Given the description of an element on the screen output the (x, y) to click on. 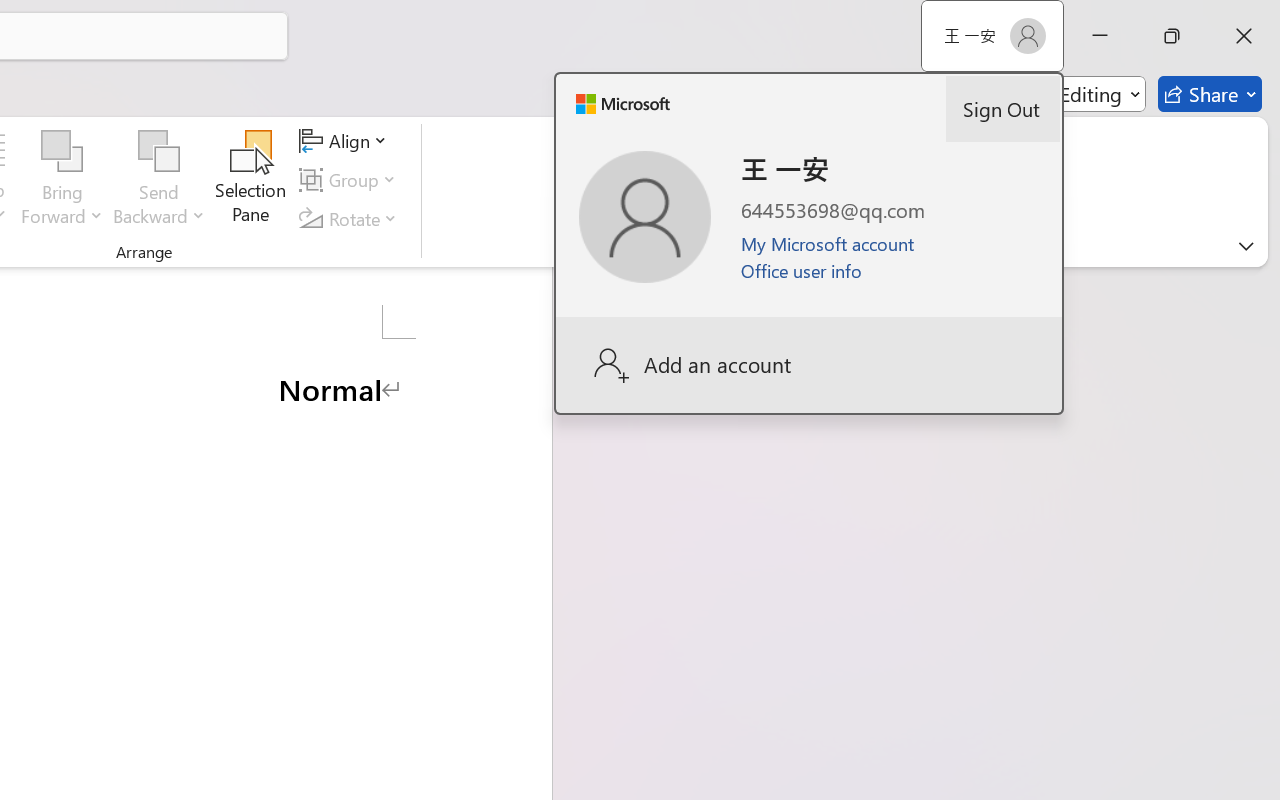
Selection Pane... (251, 179)
Group (351, 179)
Bring Forward (62, 179)
Bring Forward (62, 151)
Align (346, 141)
Rotate (351, 218)
Send Backward (159, 151)
